Given the description of an element on the screen output the (x, y) to click on. 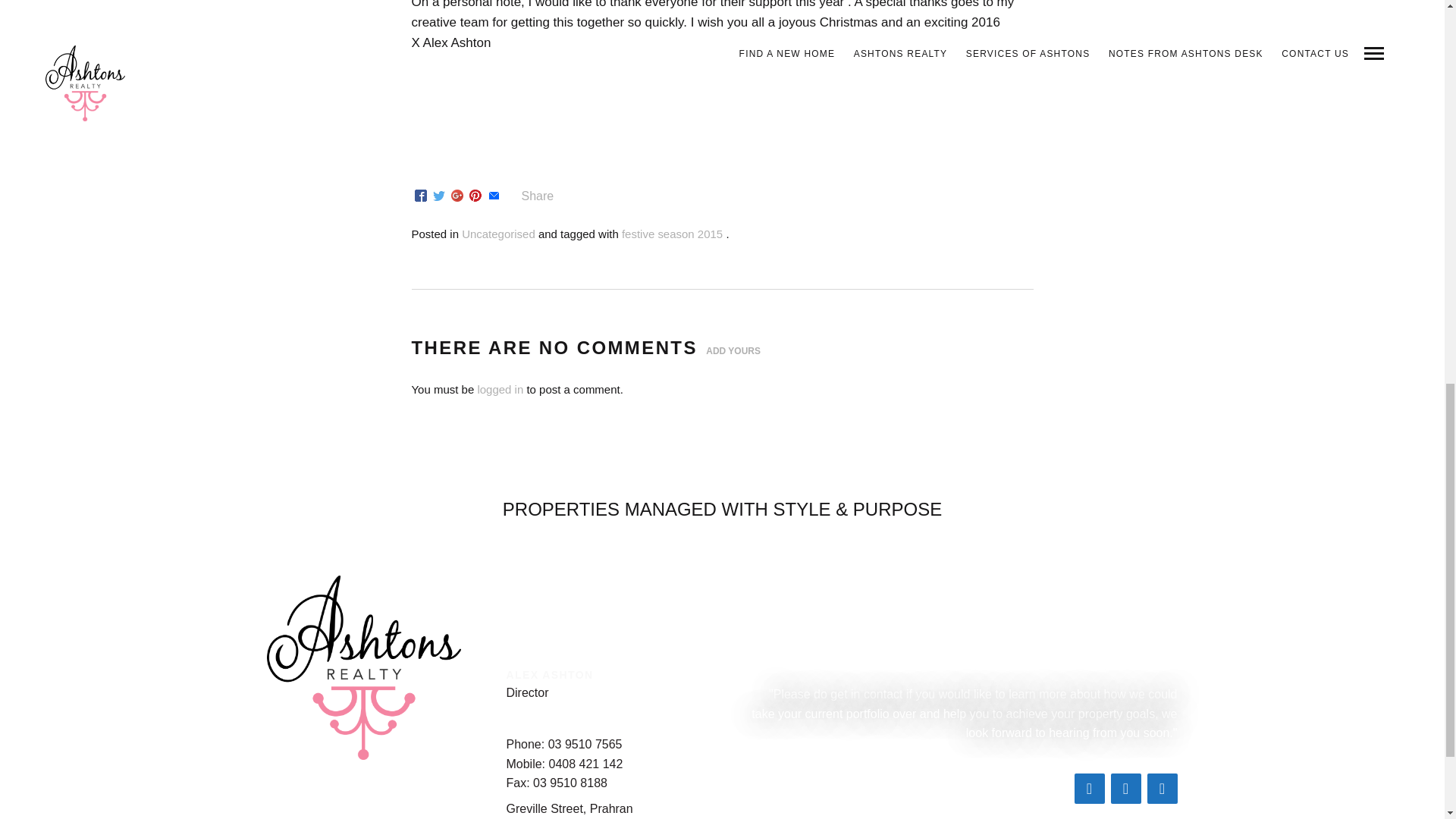
Twitter (437, 196)
LinkedIn (1125, 788)
View all posts tagged festive season 2015 (671, 233)
ADD YOURS (733, 350)
Share (527, 196)
Twitter (1162, 788)
Pinterest (474, 196)
logged in (499, 389)
Uncategorised (498, 233)
Email (492, 196)
